Given the description of an element on the screen output the (x, y) to click on. 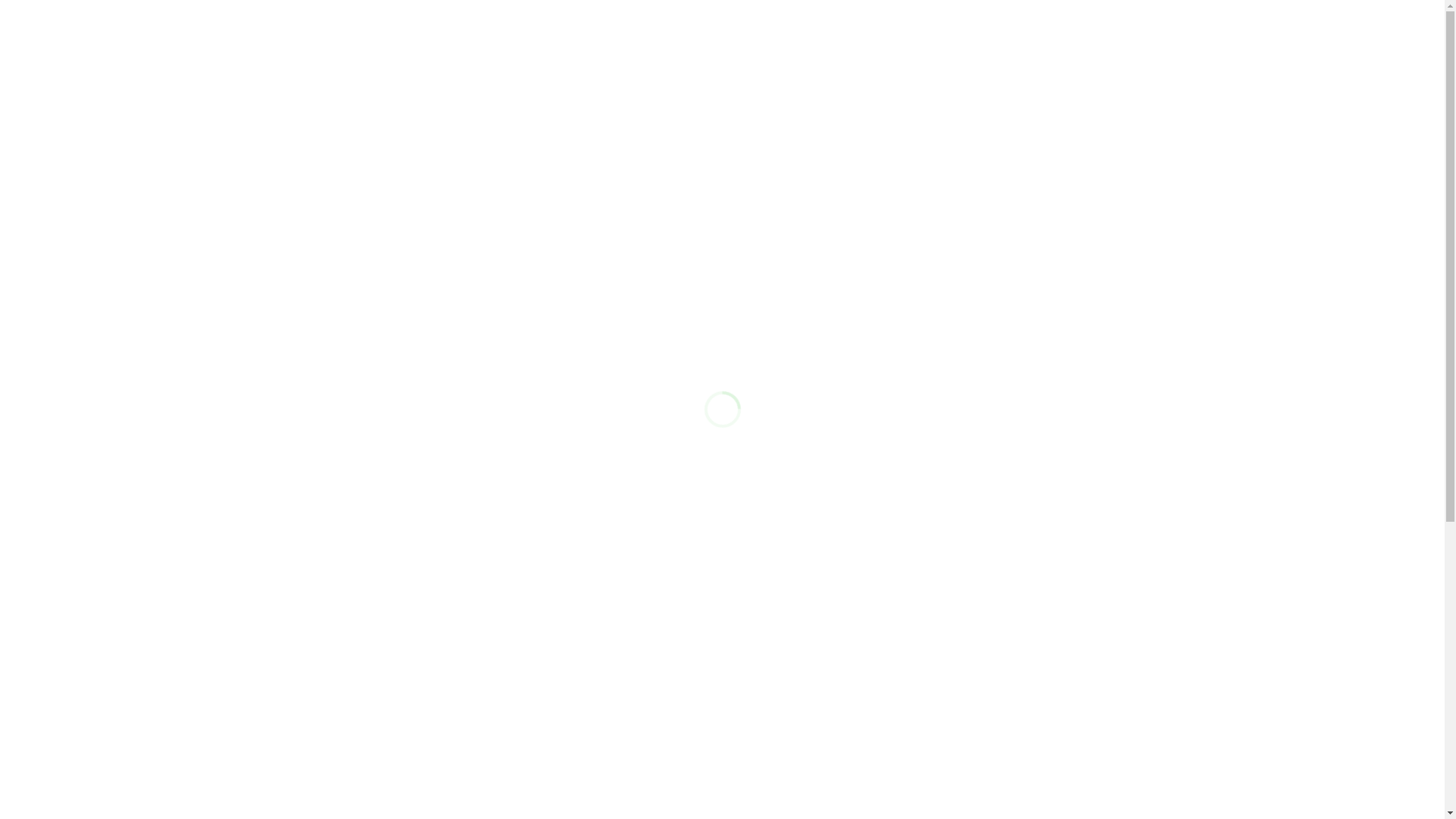
(099) 789 08 88 Element type: text (1128, 35)
Kalkulyator Element type: text (751, 783)
(055) 569 08 88 Element type: text (1132, 724)
info@pocta.az Element type: text (1135, 781)
(099) 789 08 88 Element type: text (1132, 743)
Daxil ol Element type: text (1017, 35)
(055) 569 08 88 Element type: text (1128, 15)
(012) 489 08 88 Element type: text (1128, 55)
(012) 489 08 88 Element type: text (1132, 762)
